Given the description of an element on the screen output the (x, y) to click on. 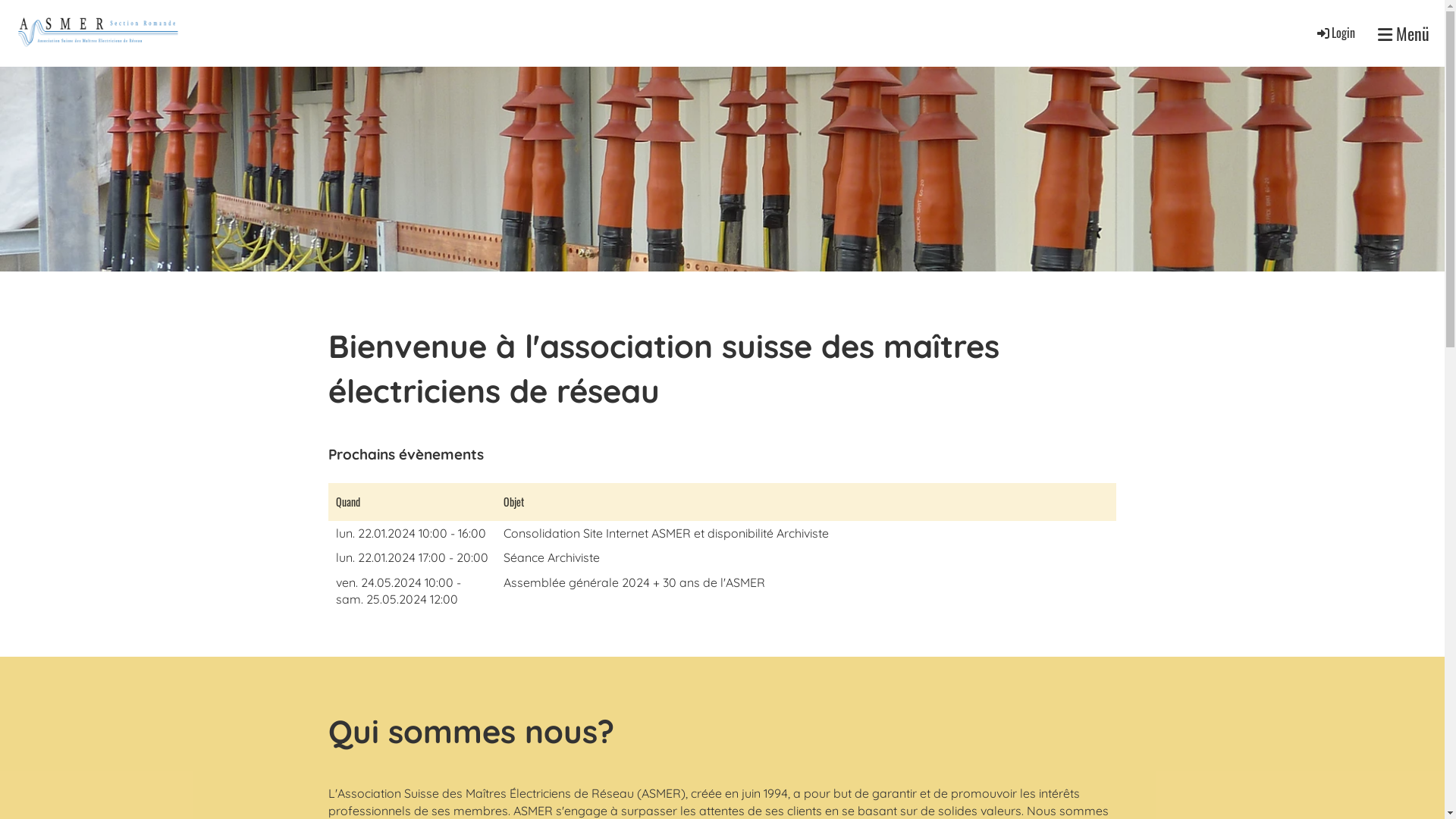
Login Element type: text (1334, 32)
